Given the description of an element on the screen output the (x, y) to click on. 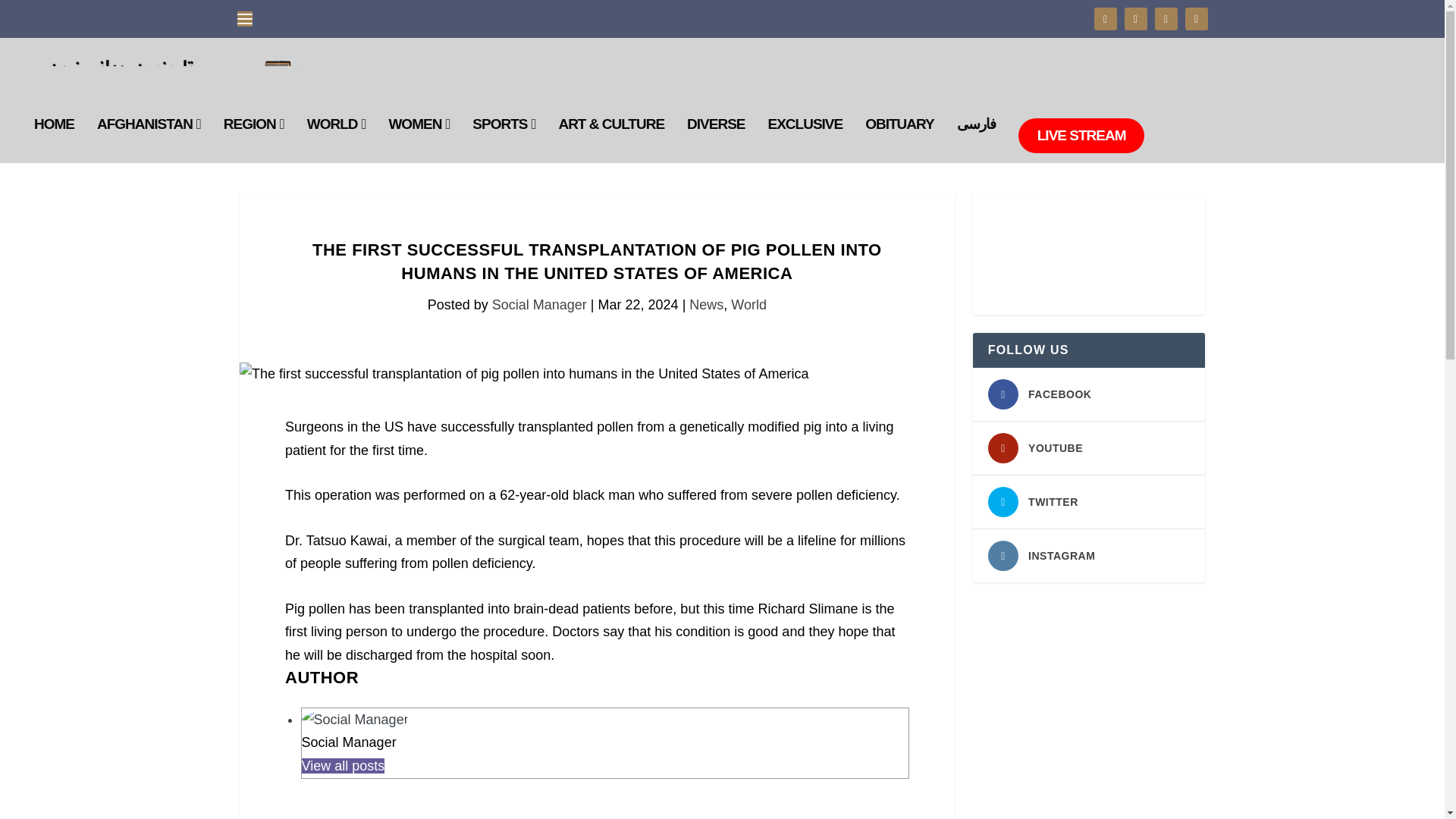
AFGHANISTAN (148, 140)
REGION (253, 140)
